Given the description of an element on the screen output the (x, y) to click on. 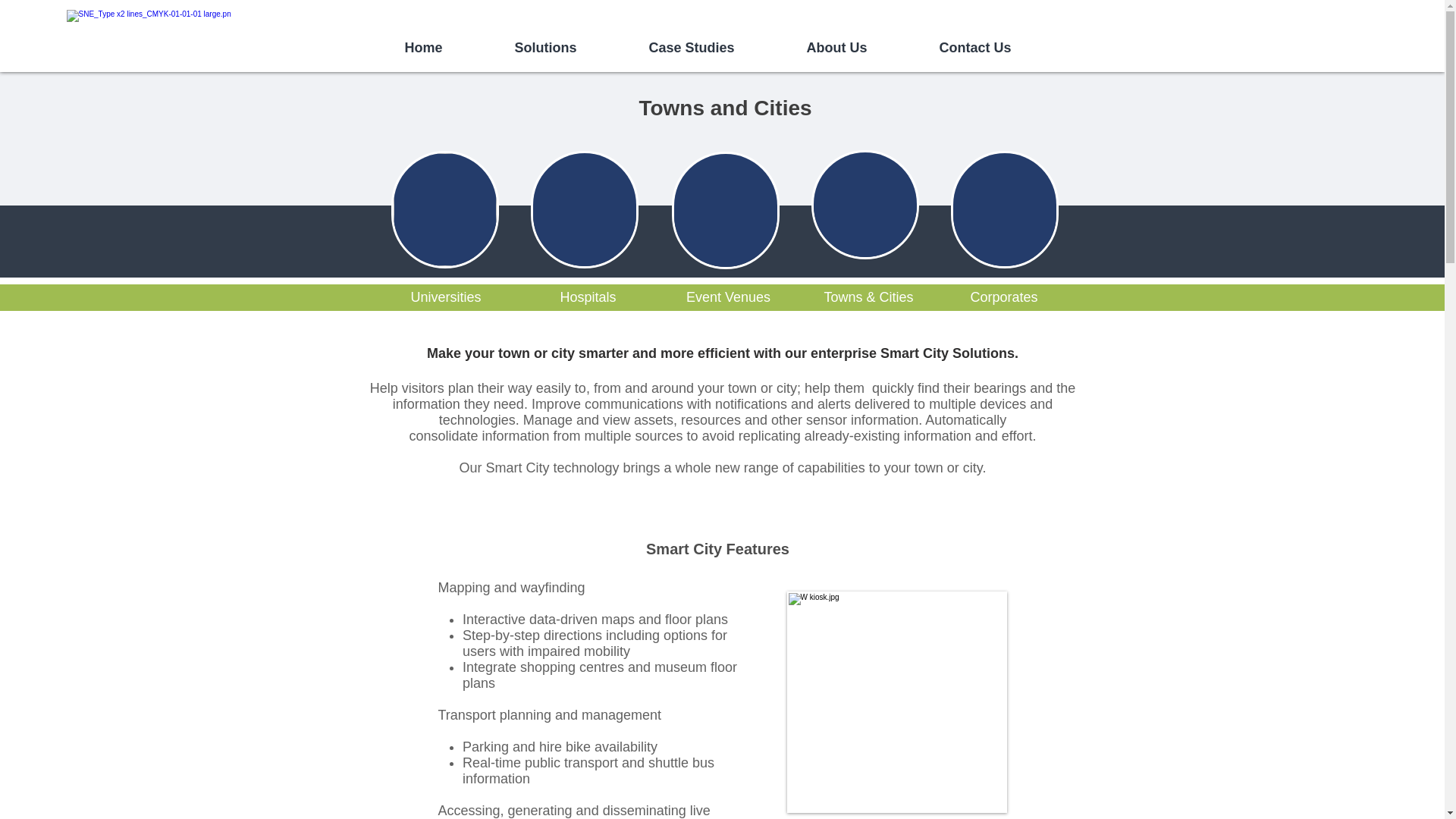
Contact Us (999, 47)
Event Venues (727, 297)
About Us (860, 47)
Case Studies (715, 47)
Universities (445, 297)
Home (447, 47)
Corporates (1004, 297)
Hospitals (588, 297)
